Given the description of an element on the screen output the (x, y) to click on. 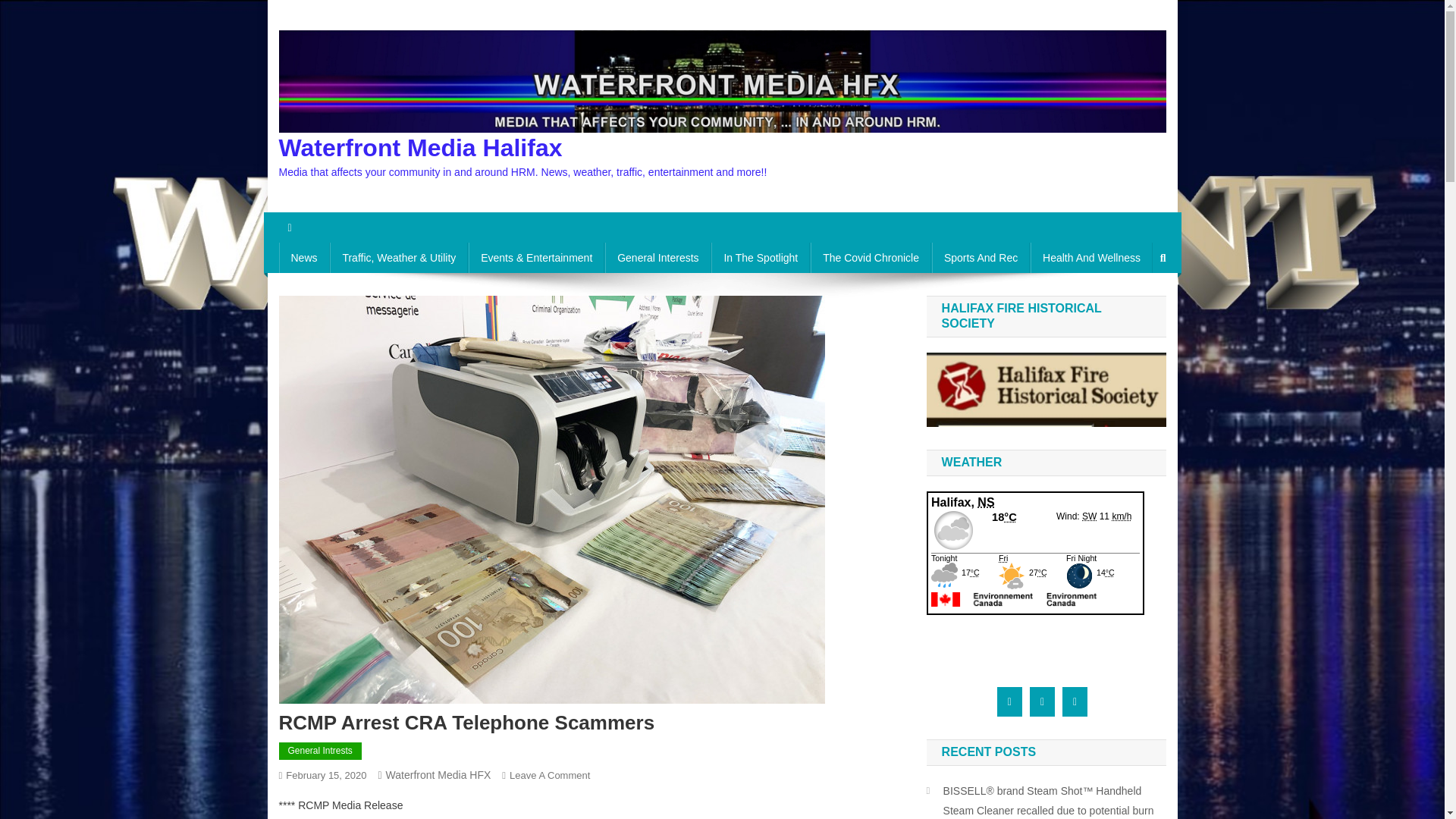
Health And Wellness (1091, 257)
News (304, 257)
In The Spotlight (760, 257)
Waterfront Media Halifax (420, 146)
February 15, 2020 (325, 775)
Waterfront Media HFX (438, 775)
General Interests (657, 257)
General Intrests (320, 751)
Search (1133, 308)
The Covid Chronicle (549, 775)
Sports And Rec (870, 257)
Environment Canada Weather (980, 257)
